Given the description of an element on the screen output the (x, y) to click on. 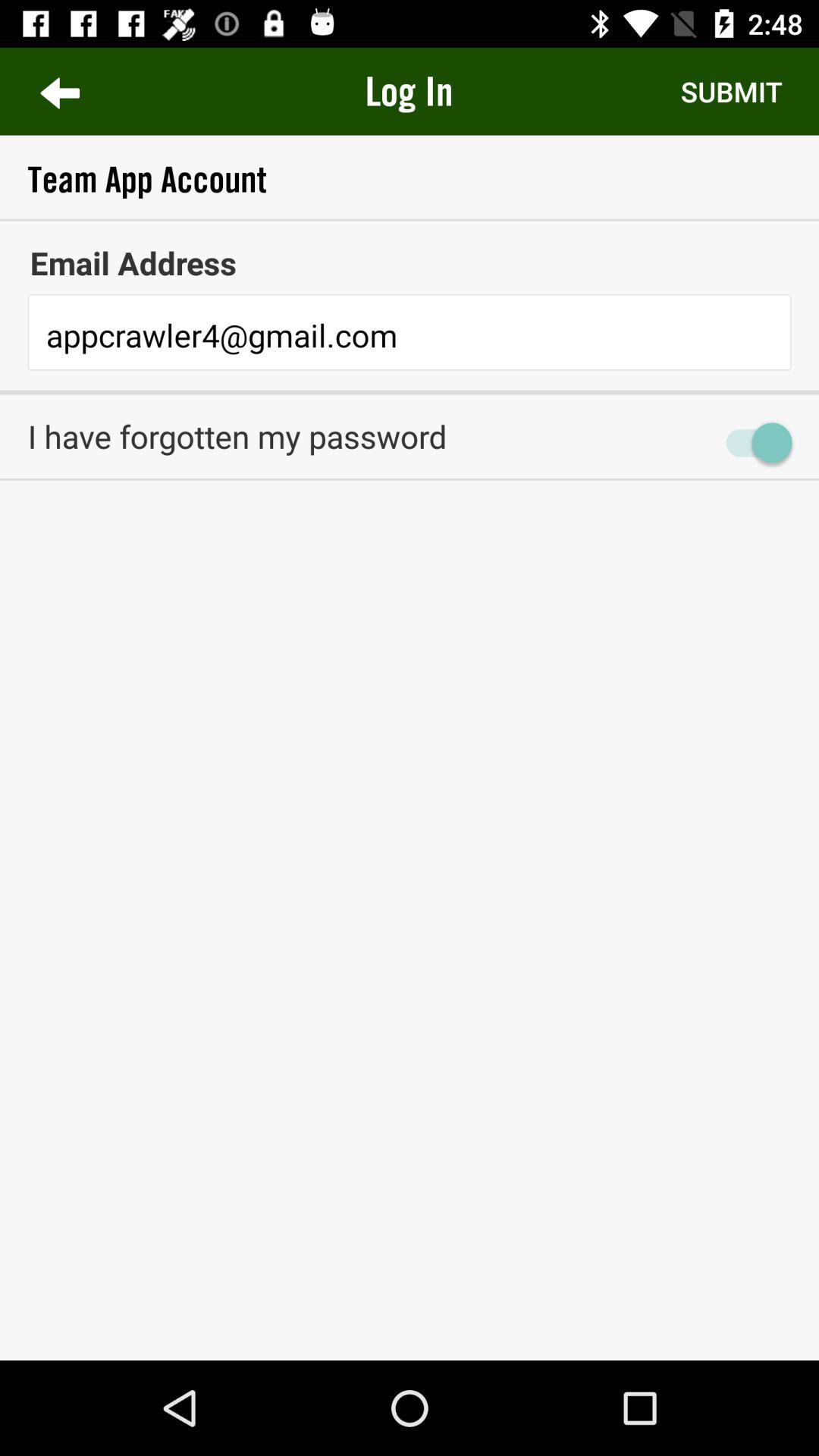
turn on log in (409, 91)
